Given the description of an element on the screen output the (x, y) to click on. 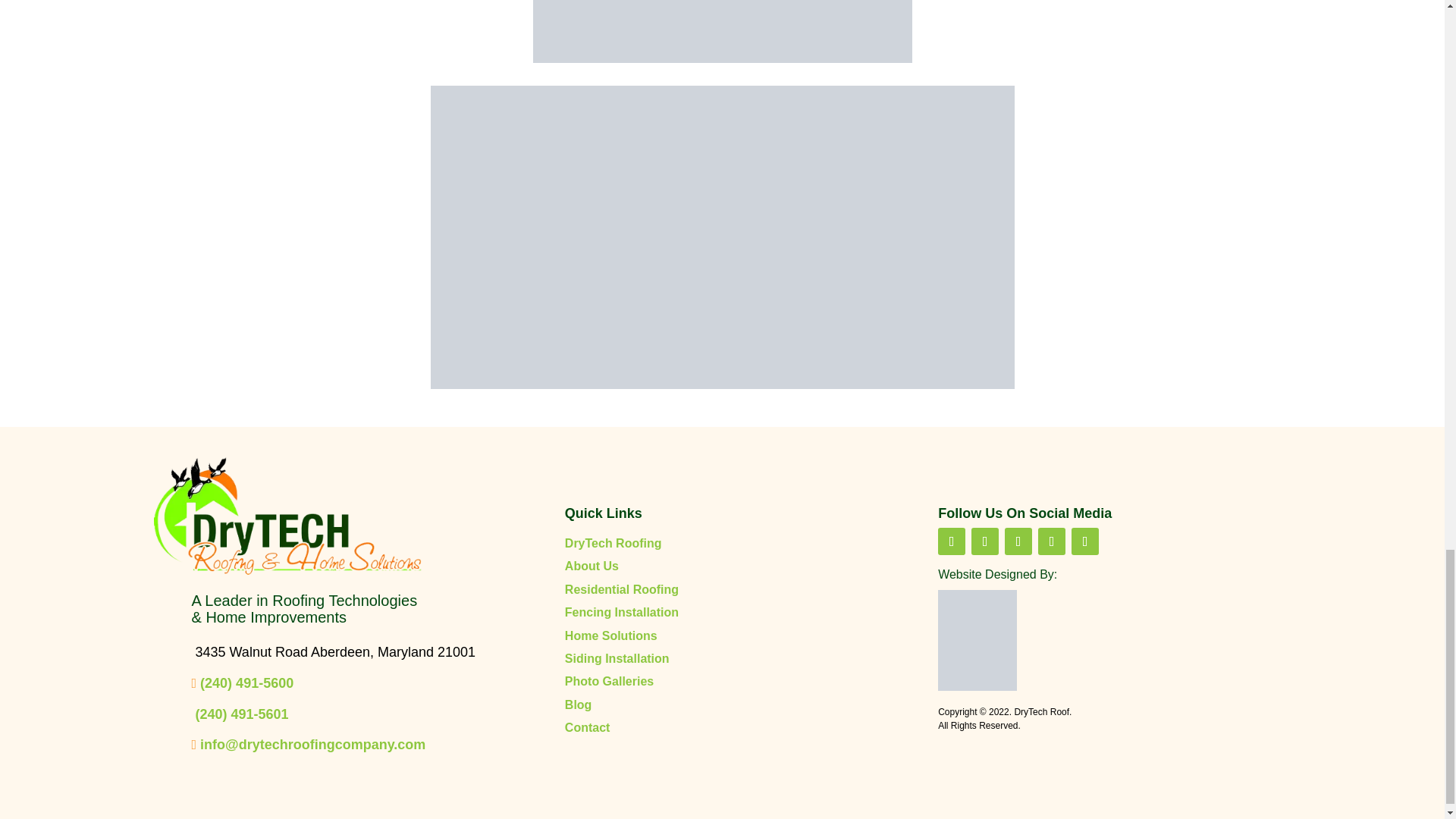
Follow on Instagram (1085, 541)
Follow on X (1018, 541)
DryTechLogo-Short (287, 517)
Follow on google-plus (1051, 541)
Follow on Facebook (951, 541)
Follow on Youtube (984, 541)
